Given the description of an element on the screen output the (x, y) to click on. 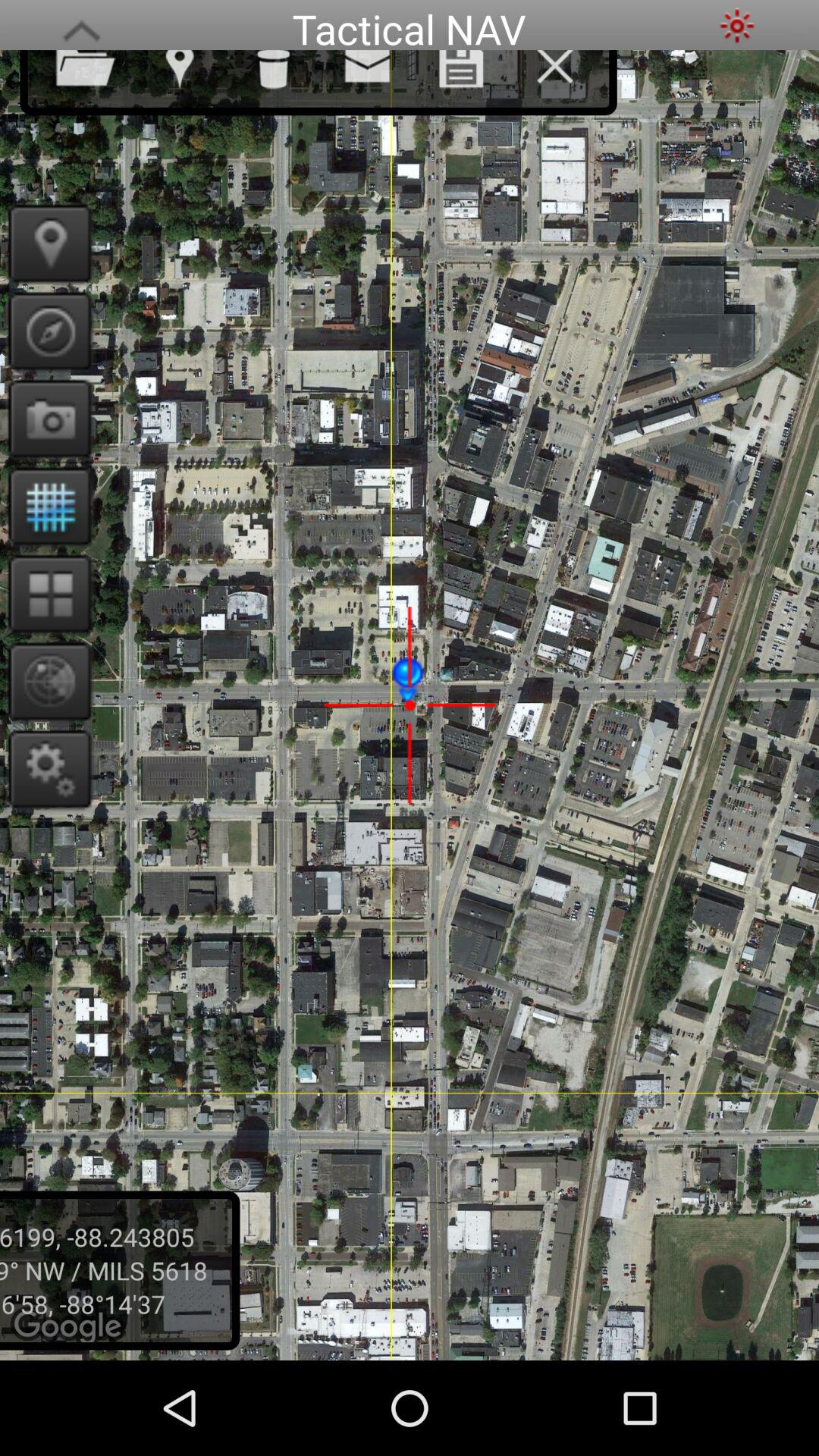
place mark on map (45, 243)
